Given the description of an element on the screen output the (x, y) to click on. 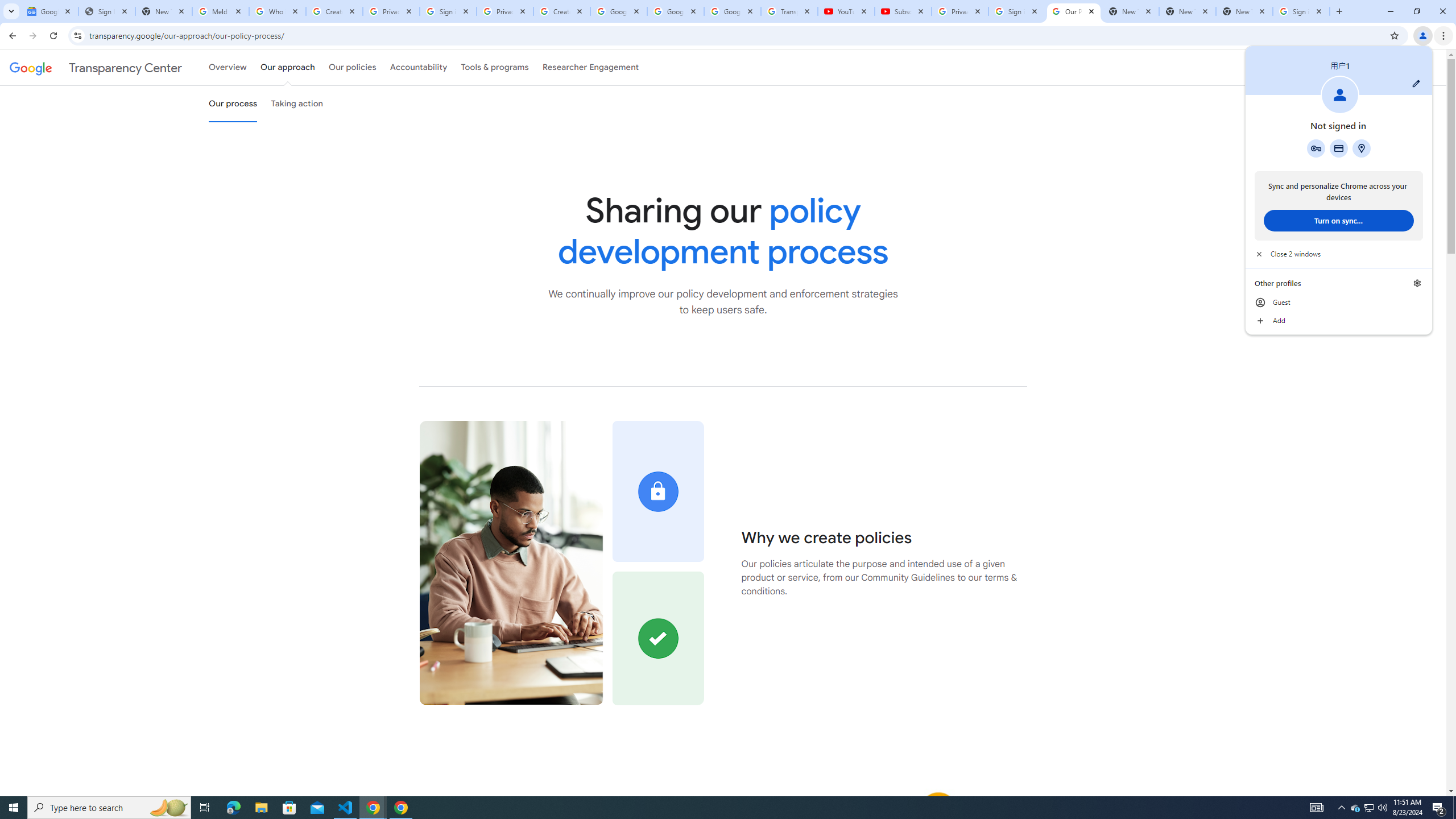
Manage profiles (1417, 283)
Google Account (1368, 807)
Running applications (731, 11)
Create your Google Account (717, 807)
AutomationID: 4105 (334, 11)
YouTube (1316, 807)
Google Password Manager (845, 11)
Create your Google Account (1315, 148)
Google Chrome - 1 running window (561, 11)
